Given the description of an element on the screen output the (x, y) to click on. 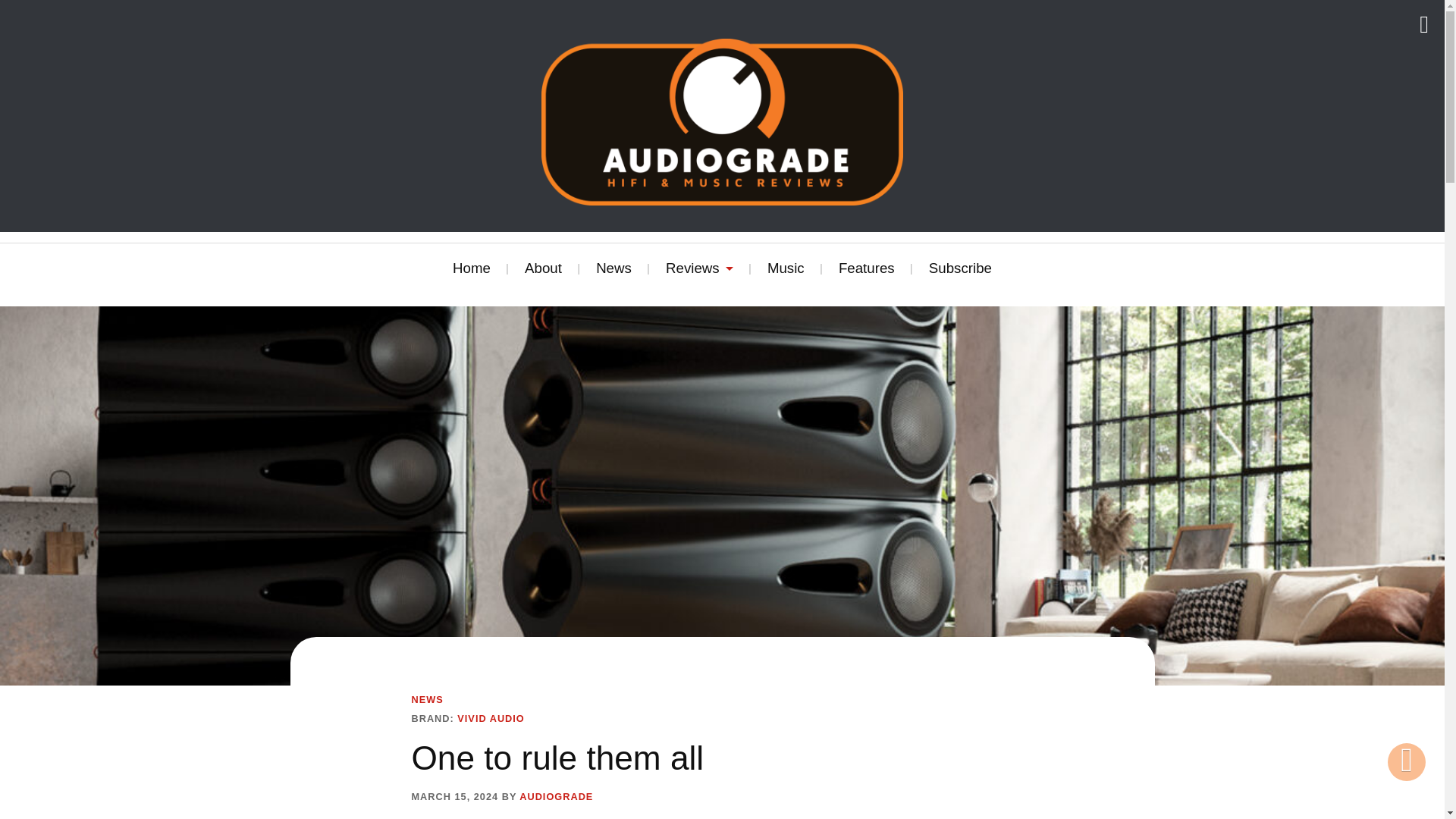
Reviews (699, 268)
Subscribe (959, 268)
Features (866, 268)
Posts by Audiograde (555, 797)
